Given the description of an element on the screen output the (x, y) to click on. 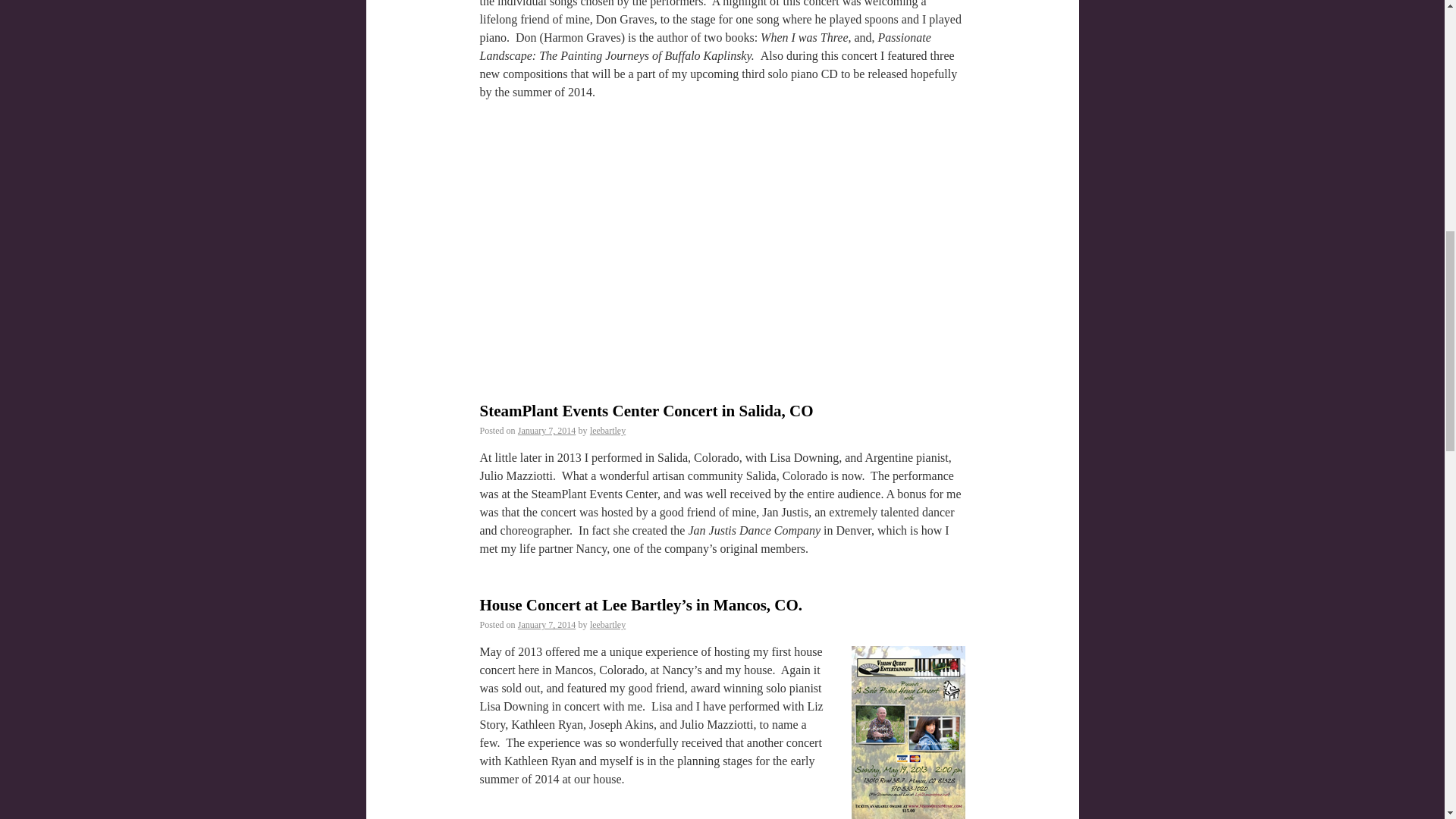
leebartley (607, 430)
View all posts by leebartley (607, 624)
January 7, 2014 (546, 624)
6:15 am (546, 624)
leebartley (607, 624)
SteamPlant Events Center Concert in Salida, CO (645, 411)
January 7, 2014 (546, 430)
6:17 am (546, 430)
View all posts by leebartley (607, 430)
Permalink to SteamPlant Events Center Concert in Salida, CO (645, 411)
